Given the description of an element on the screen output the (x, y) to click on. 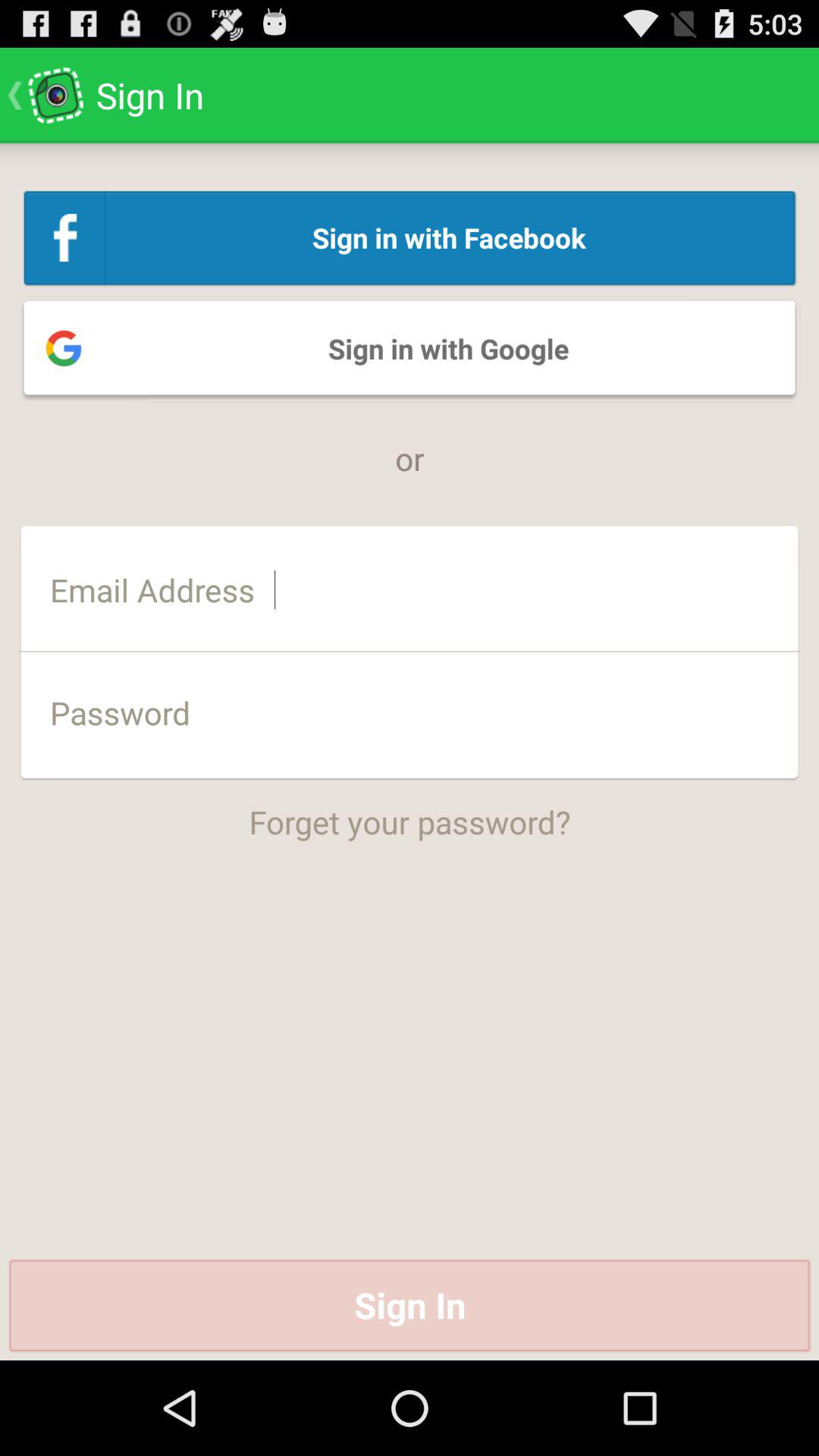
turn on icon above sign in button (409, 811)
